Given the description of an element on the screen output the (x, y) to click on. 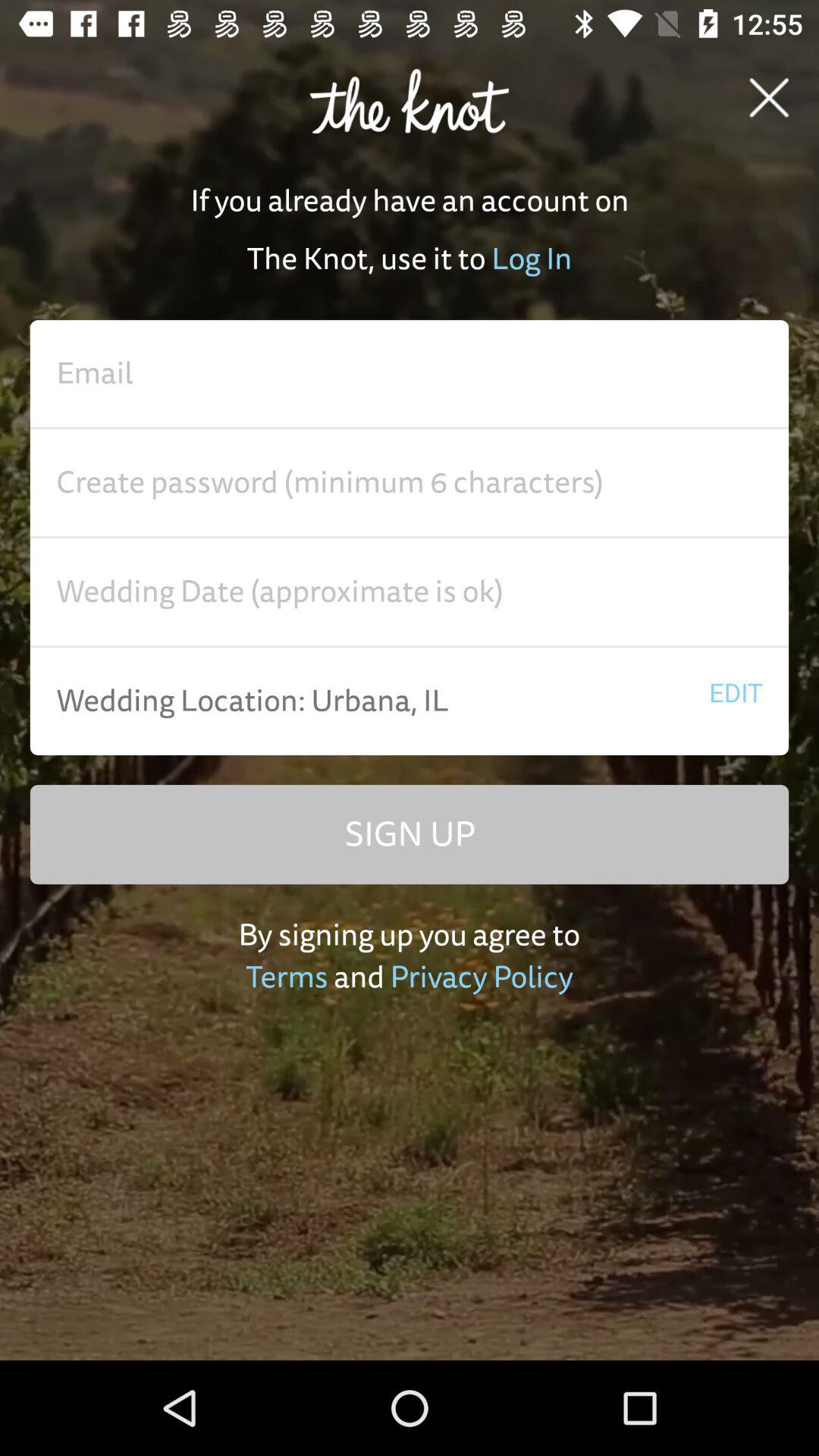
advertisement (409, 592)
